Given the description of an element on the screen output the (x, y) to click on. 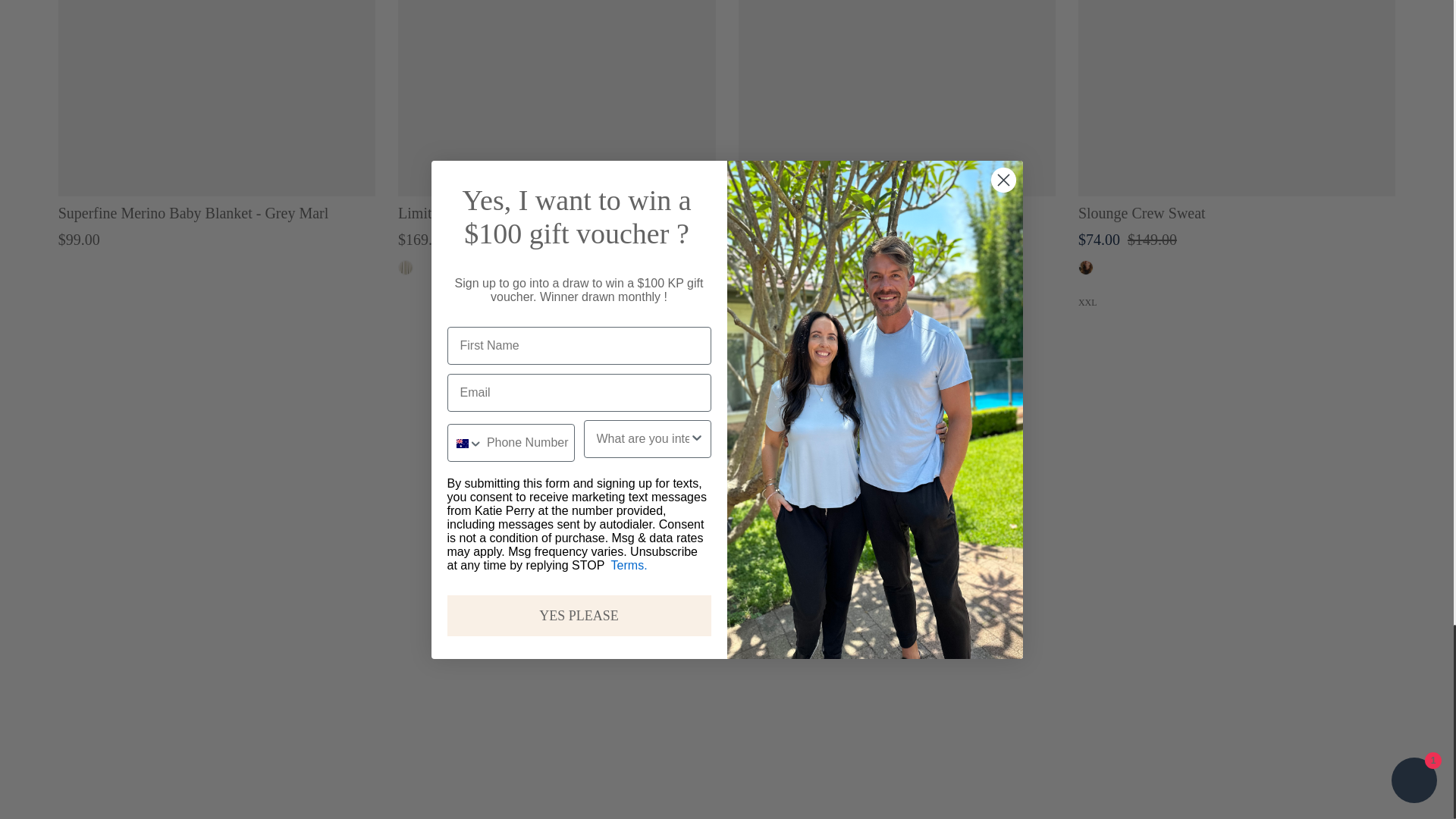
Superfine Merino Baby Blanket - Grey Marl (216, 98)
Limited Edition Bronte Cape (555, 98)
Slounge Crew Sweat (1236, 98)
Paddington Pocket V- Hoodie (896, 98)
